Given the description of an element on the screen output the (x, y) to click on. 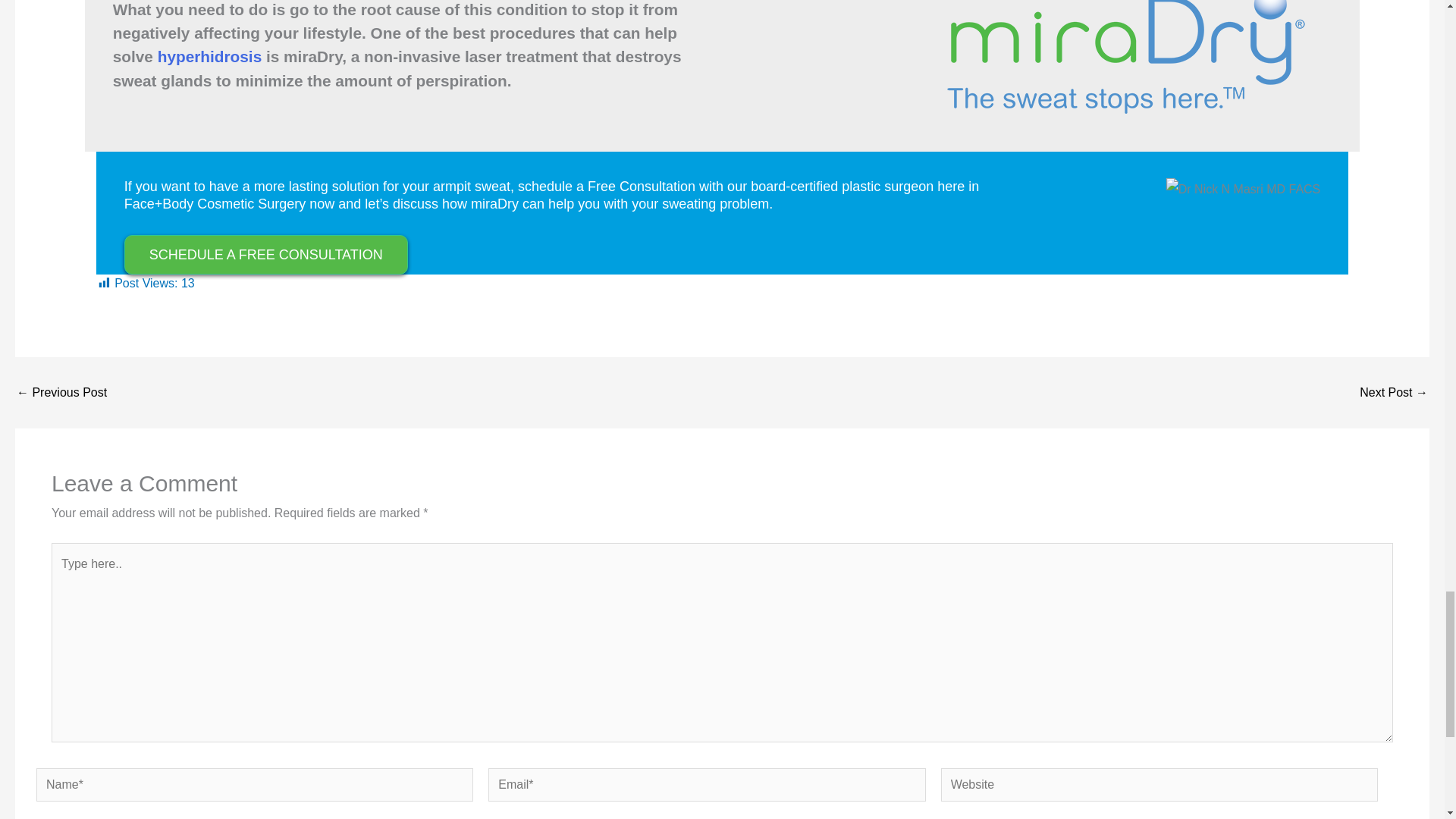
SCHEDULE A FREE CONSULTATION (265, 254)
Understanding Your Sweaty Armpits: Are They Normal? (61, 392)
mdlogo-color-transp555 (1121, 62)
hyperhidrosis (209, 56)
dr-nick-masri (1243, 189)
A Quick Guide to 7 Excessive Sweating Causes (1393, 392)
